Given the description of an element on the screen output the (x, y) to click on. 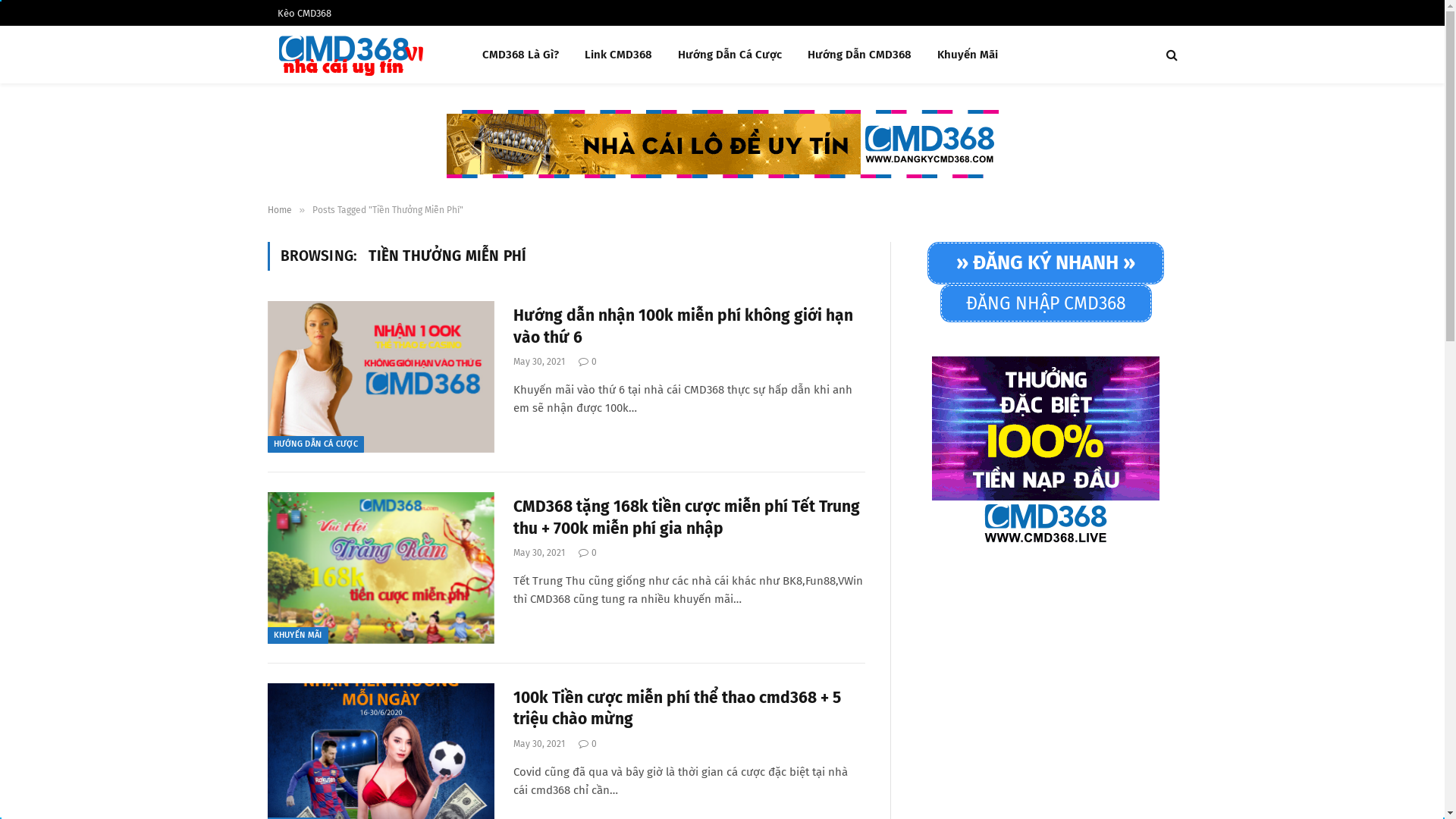
Home Element type: text (278, 209)
CMD368 Element type: hover (354, 54)
Search Element type: hover (1170, 54)
0 Element type: text (587, 552)
0 Element type: text (587, 361)
0 Element type: text (587, 743)
Link CMD368 Element type: text (618, 54)
